Given the description of an element on the screen output the (x, y) to click on. 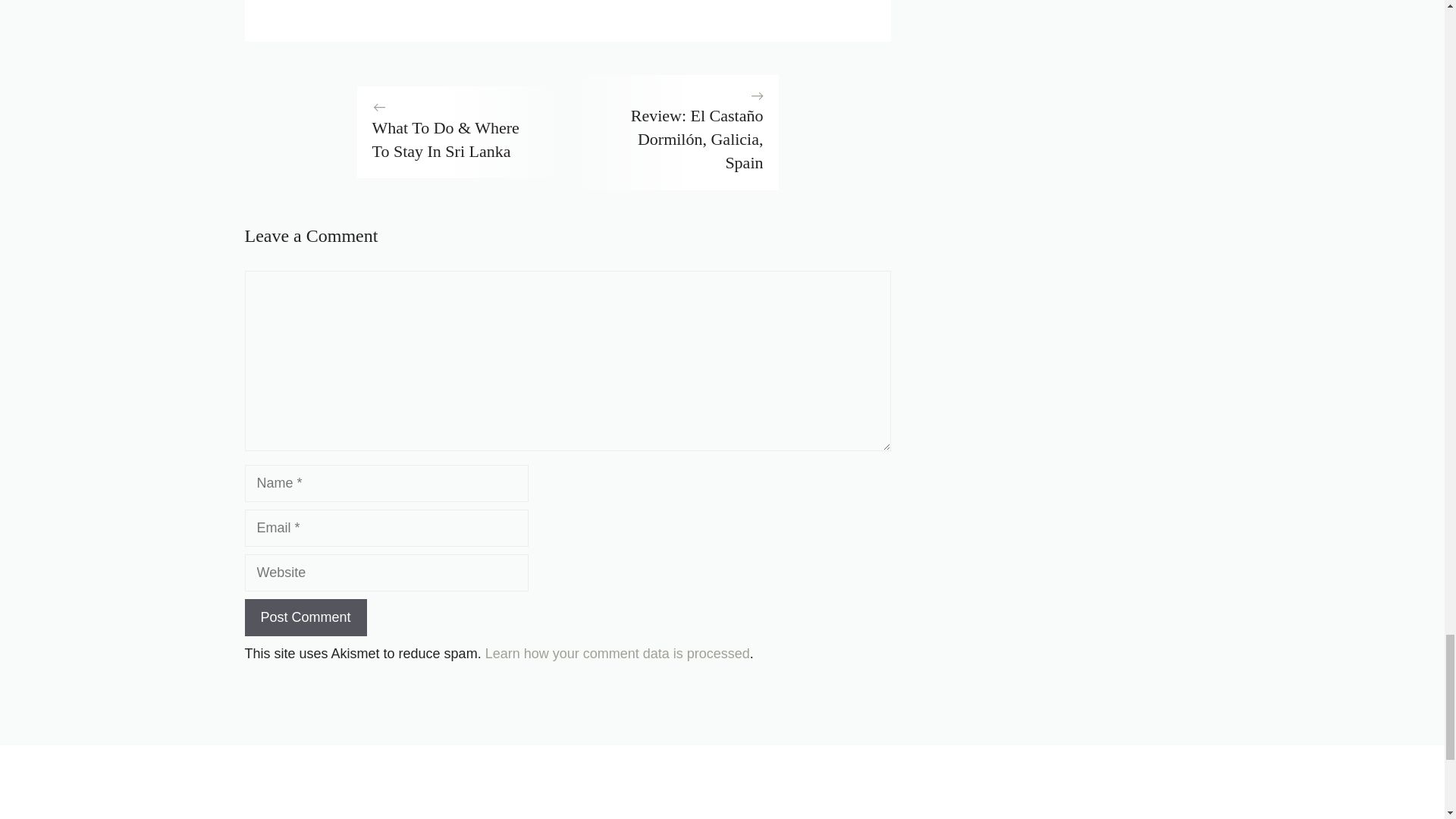
Post Comment (305, 617)
